Given the description of an element on the screen output the (x, y) to click on. 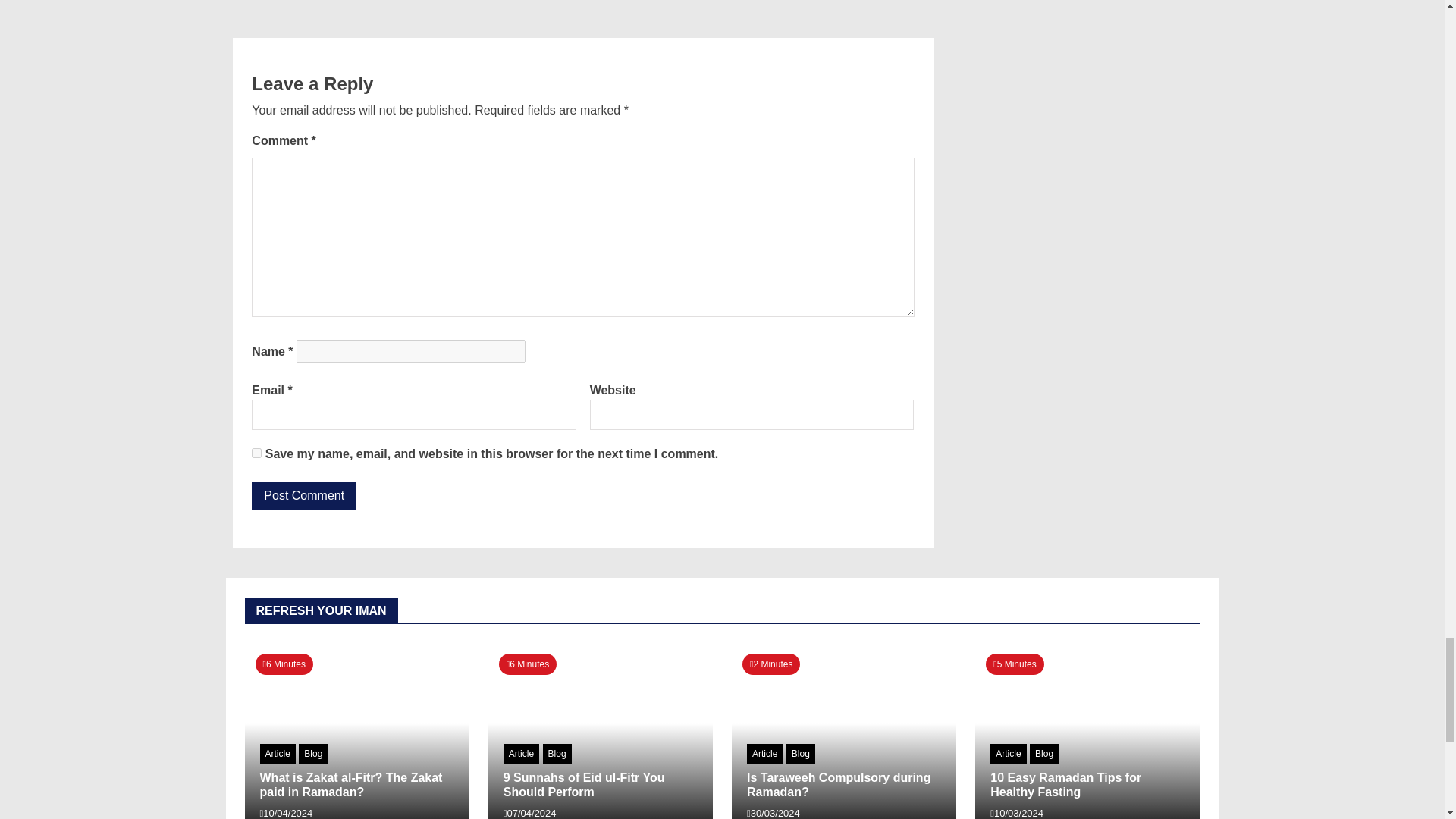
Estimated Reading Time of Article (770, 663)
Post Comment (303, 495)
Estimated Reading Time of Article (1014, 663)
Estimated Reading Time of Article (527, 663)
Estimated Reading Time of Article (283, 663)
yes (256, 452)
